Given the description of an element on the screen output the (x, y) to click on. 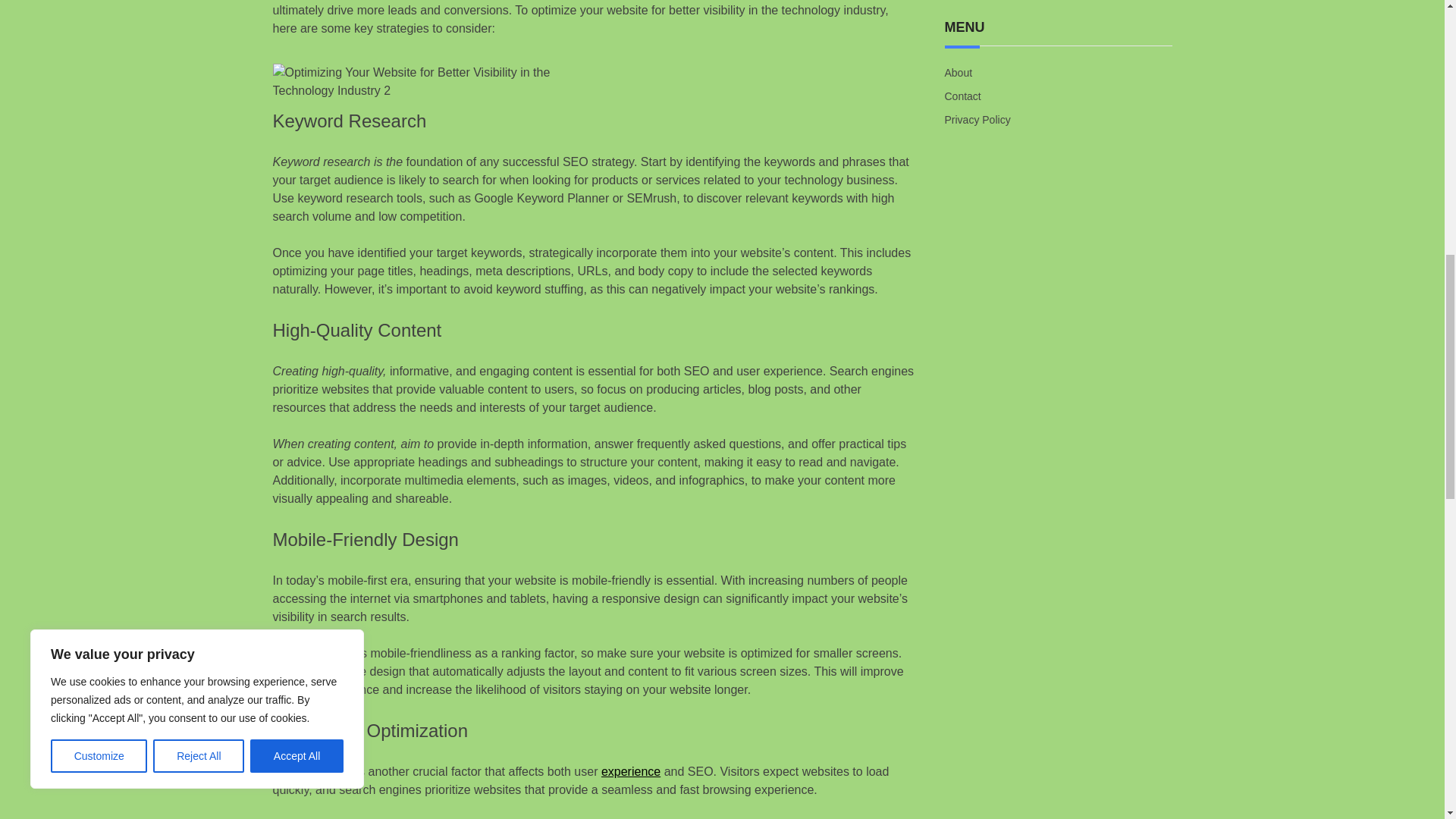
experience (631, 771)
